Given the description of an element on the screen output the (x, y) to click on. 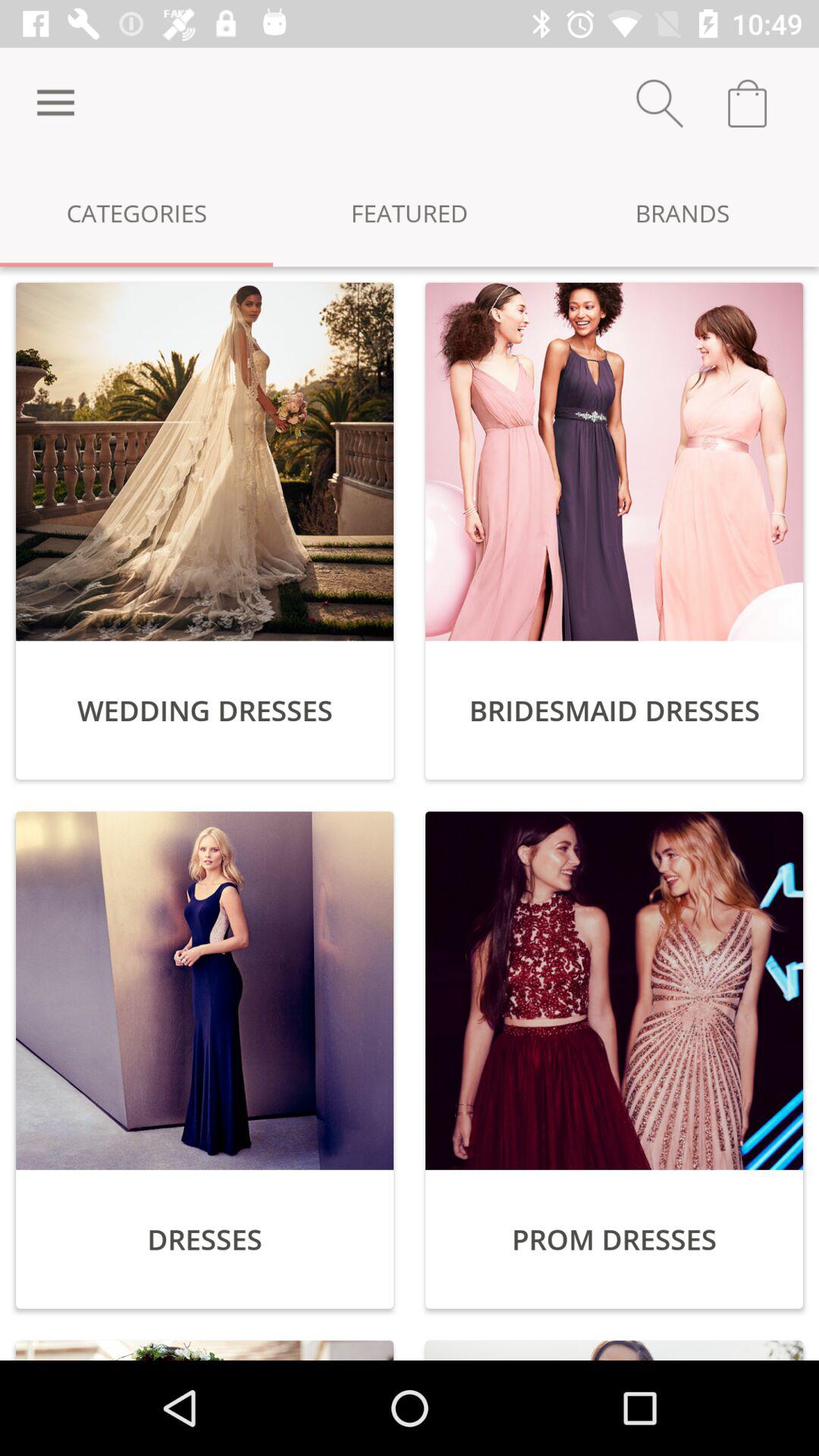
turn on the item to the left of featured icon (55, 103)
